Given the description of an element on the screen output the (x, y) to click on. 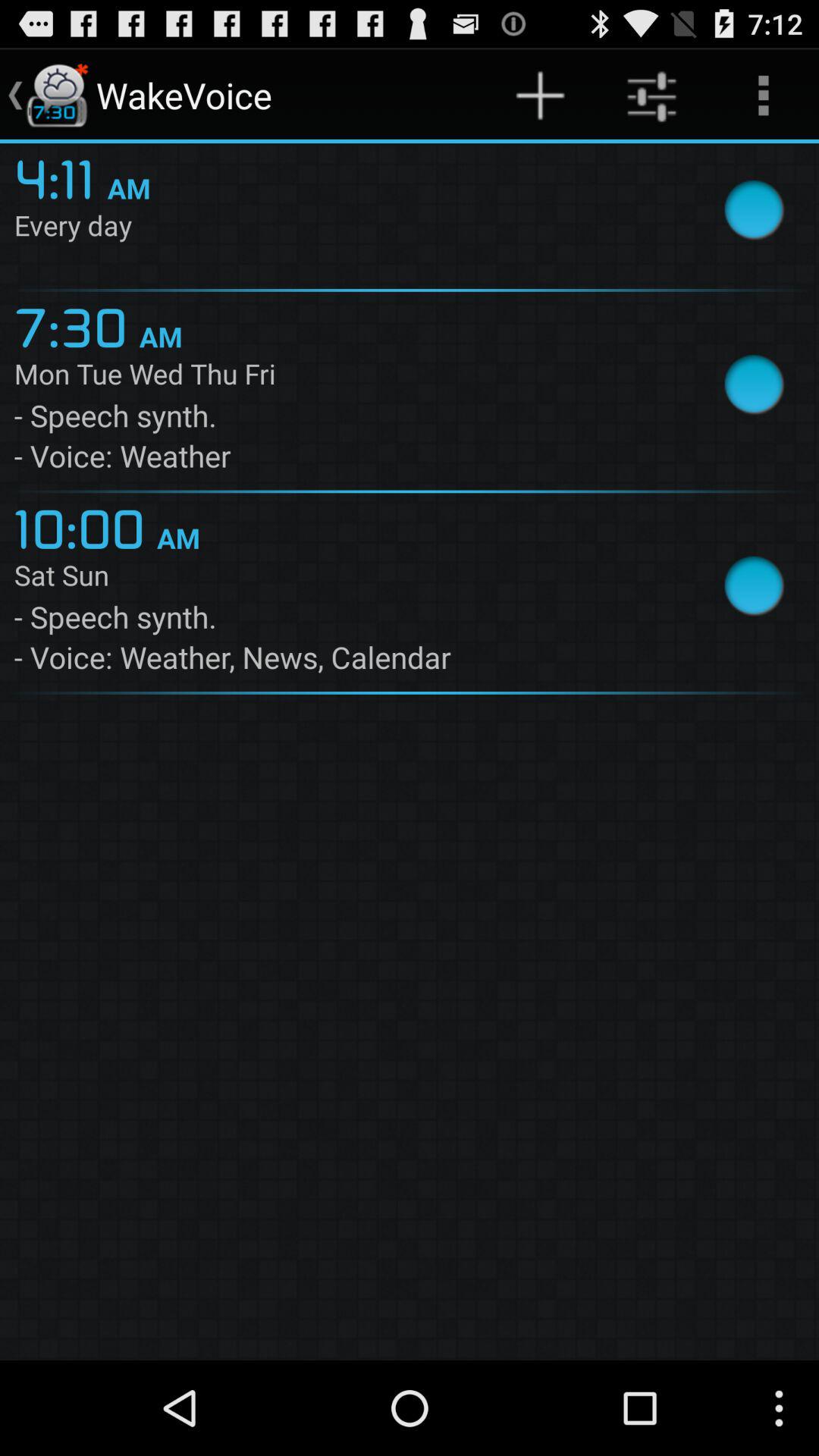
press 4:11 item (60, 176)
